Given the description of an element on the screen output the (x, y) to click on. 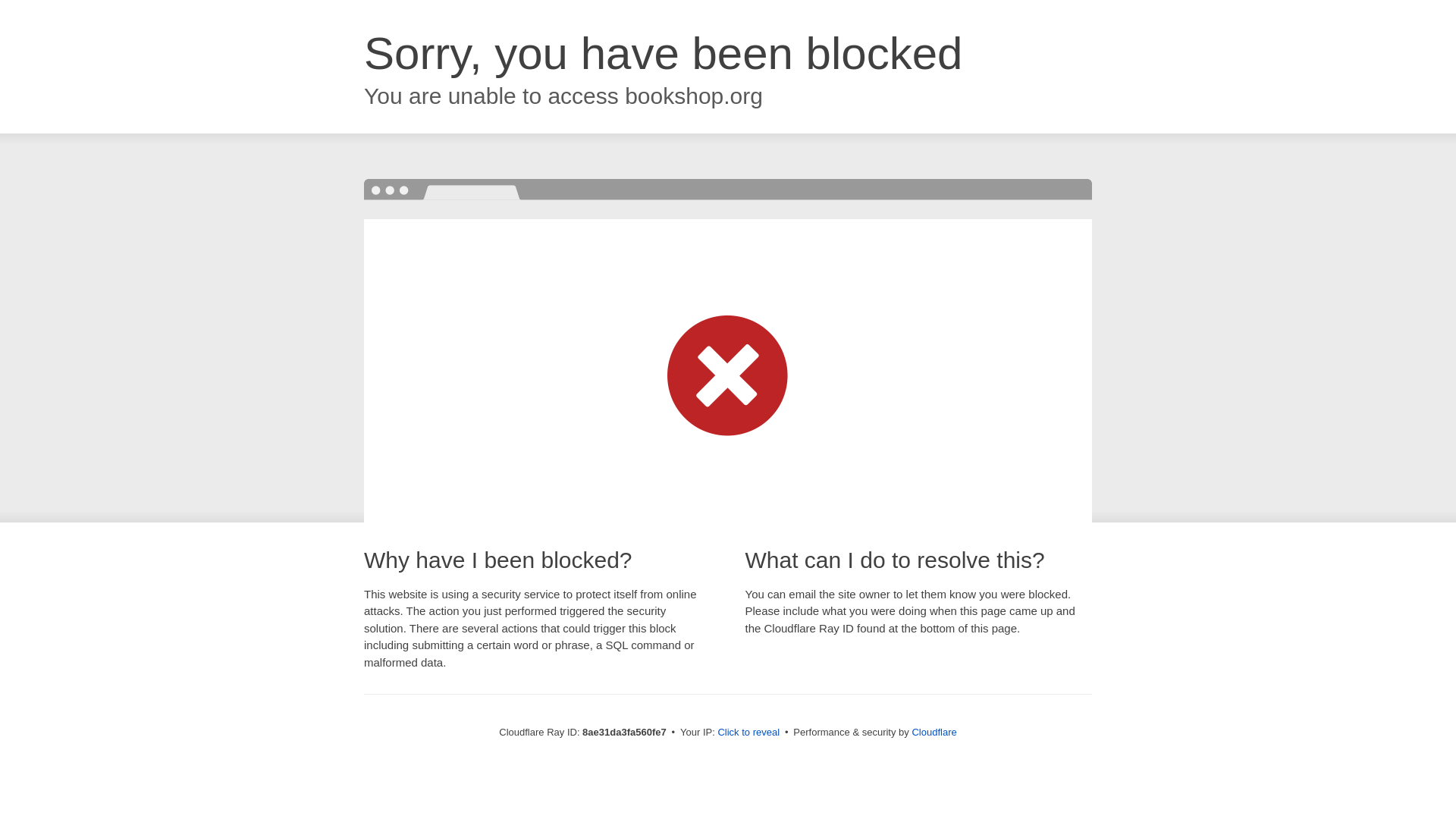
Click to reveal (747, 732)
Cloudflare (933, 731)
